Given the description of an element on the screen output the (x, y) to click on. 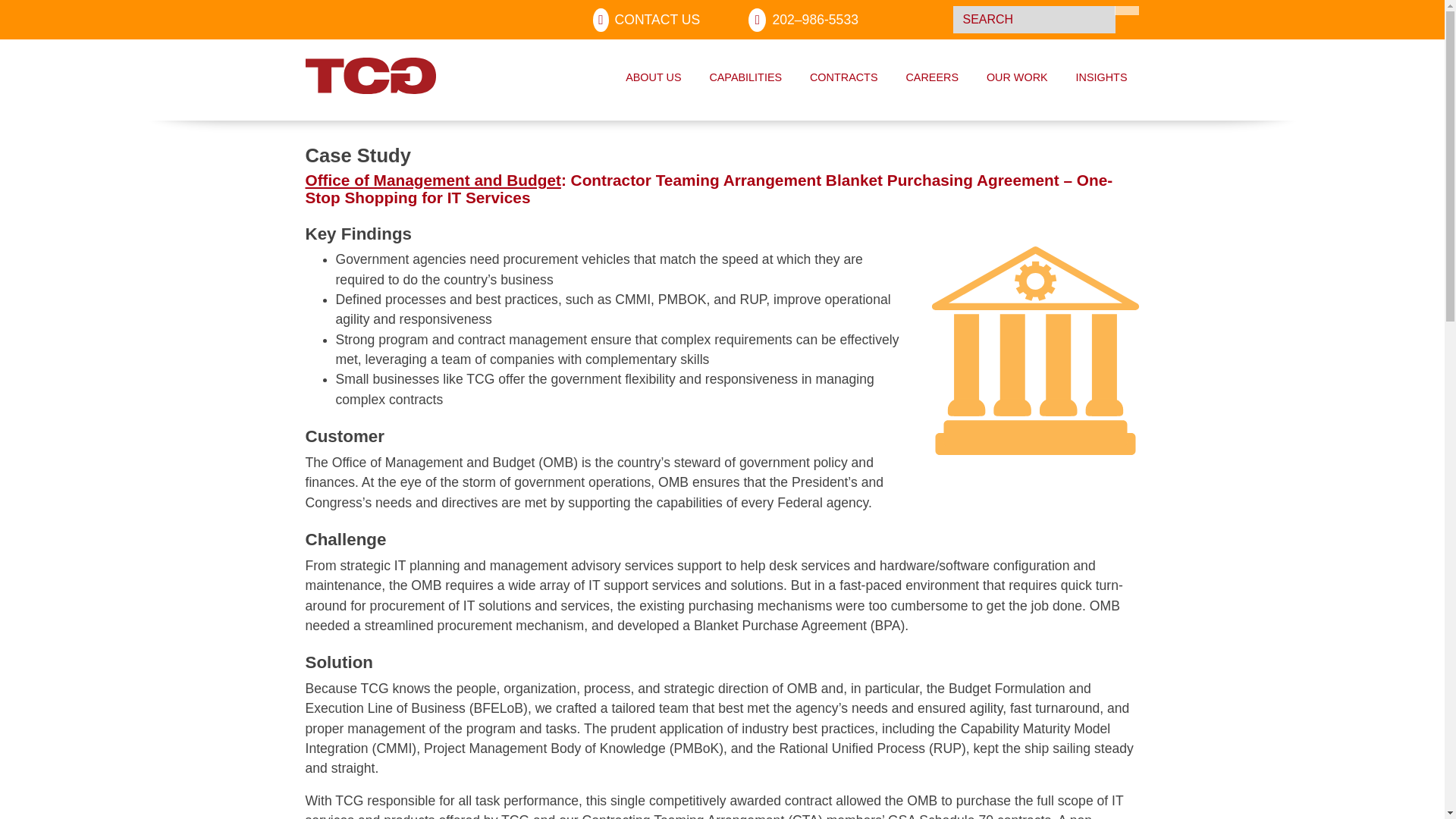
CONTACT US (646, 19)
ABOUT US (652, 79)
Search for: (1034, 19)
search-submit (1126, 10)
TCG (361, 78)
